Given the description of an element on the screen output the (x, y) to click on. 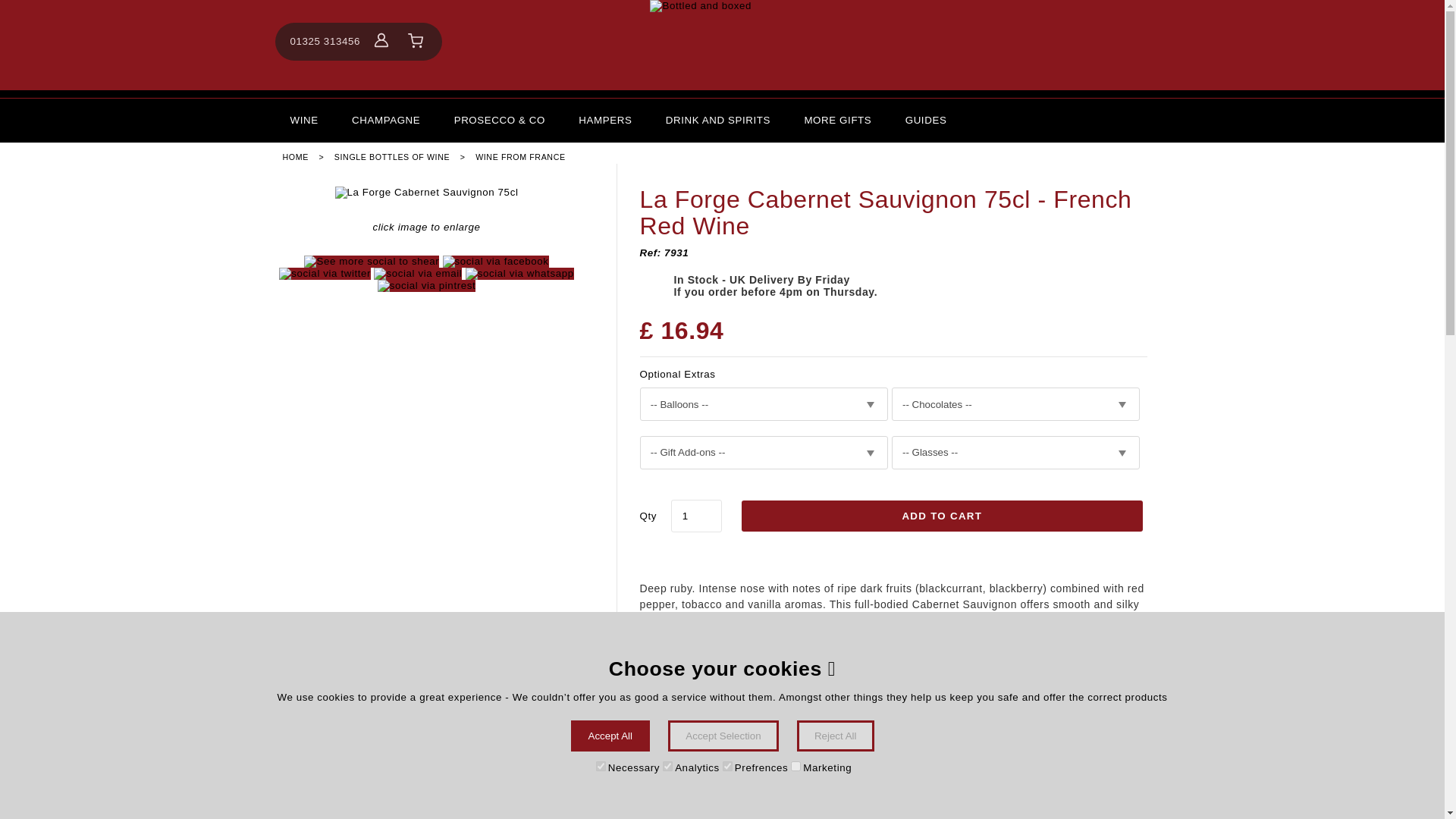
WINE (304, 120)
Home (721, 45)
Marketing (795, 766)
Necessary (600, 766)
Accout button (380, 41)
Analytics (667, 766)
Basket button (415, 40)
Manage Account (380, 41)
Prefrences (727, 766)
1 (696, 516)
View Basket (415, 41)
Accout button (381, 39)
Basket button (415, 41)
Wine Delivery in the UK (304, 120)
